Given the description of an element on the screen output the (x, y) to click on. 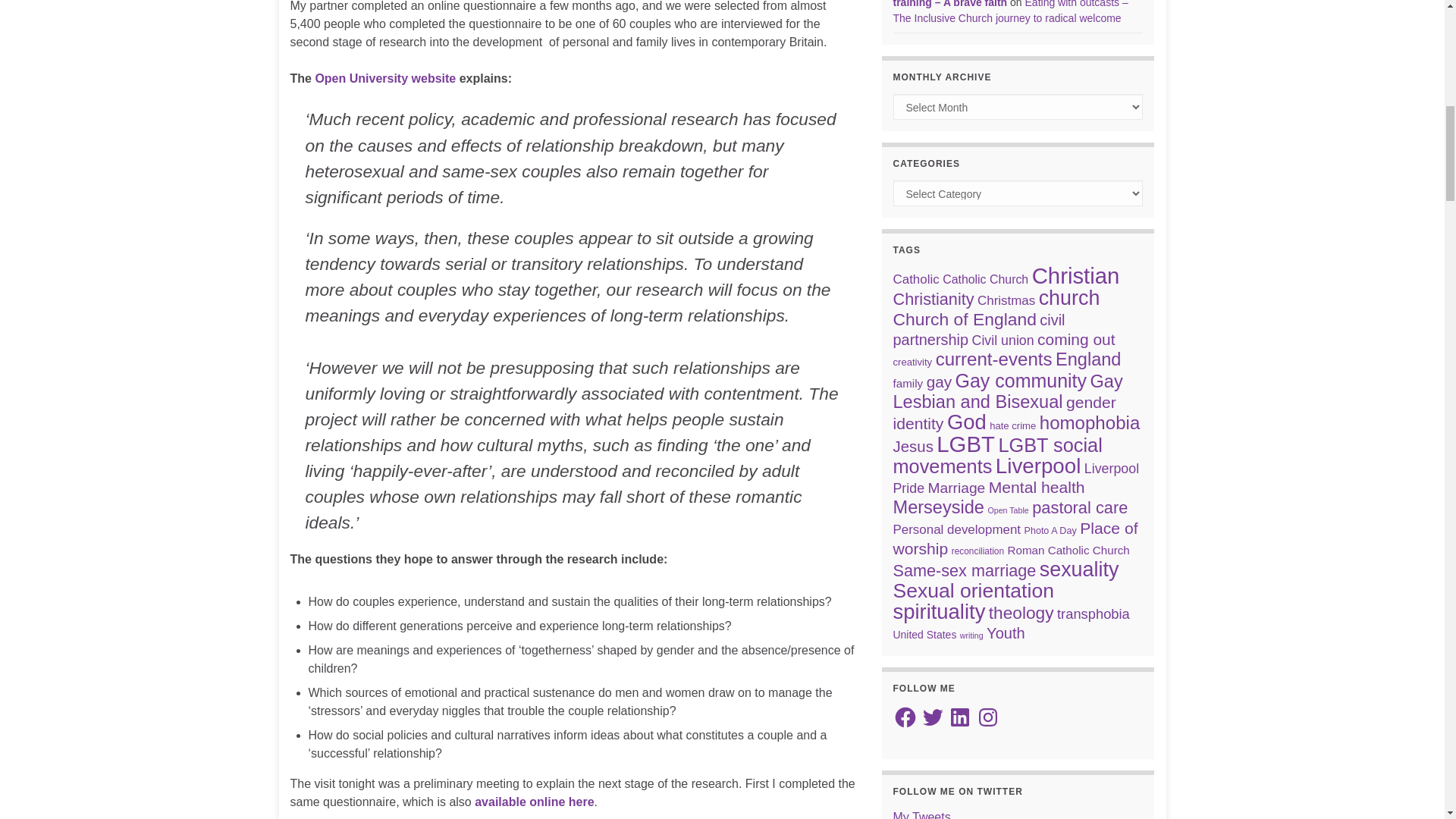
Open University website (384, 78)
available online here (534, 801)
